Given the description of an element on the screen output the (x, y) to click on. 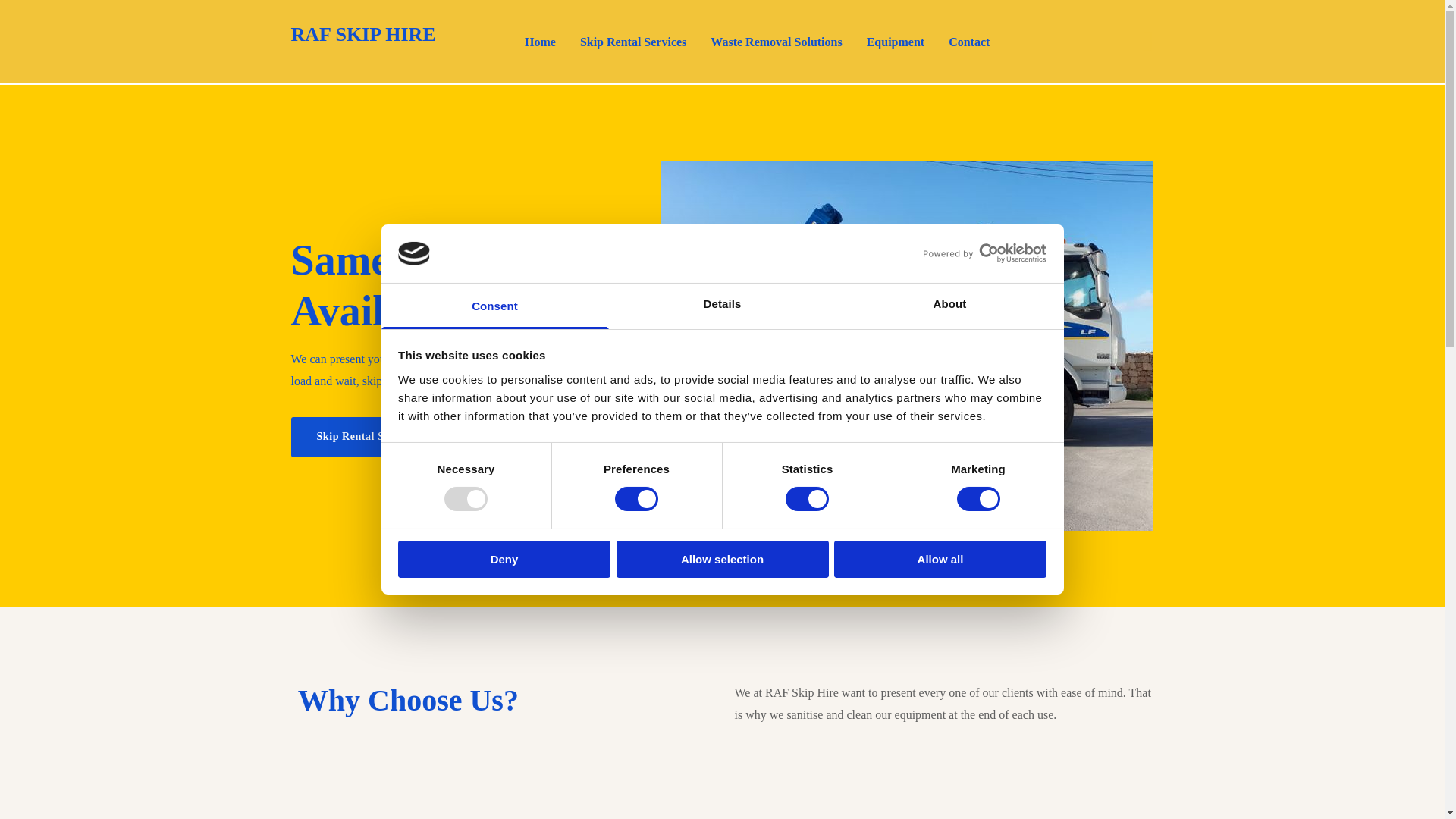
Allow selection (721, 559)
Consent (494, 306)
RAF SKIP HIRE (363, 34)
Details (721, 306)
Waste Removal Solutions (775, 41)
Allow all (940, 559)
Deny (503, 559)
Contact (968, 41)
Equipment (895, 41)
Skip Rental Services (632, 41)
Home (539, 41)
About (948, 306)
